Given the description of an element on the screen output the (x, y) to click on. 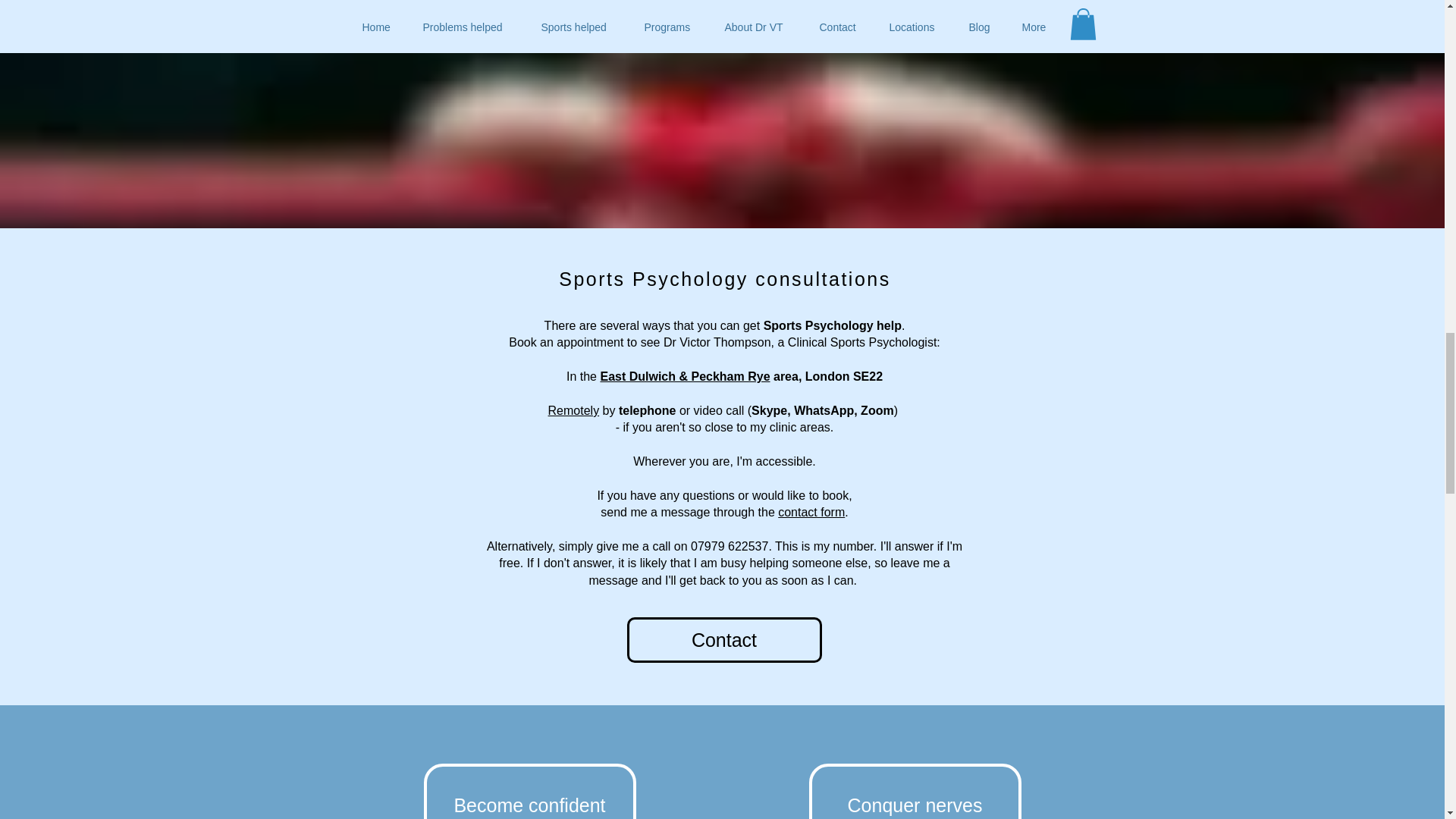
contact form (810, 512)
Become confident (528, 791)
Conquer nerves (914, 791)
Contact (723, 639)
Remotely (573, 410)
